Given the description of an element on the screen output the (x, y) to click on. 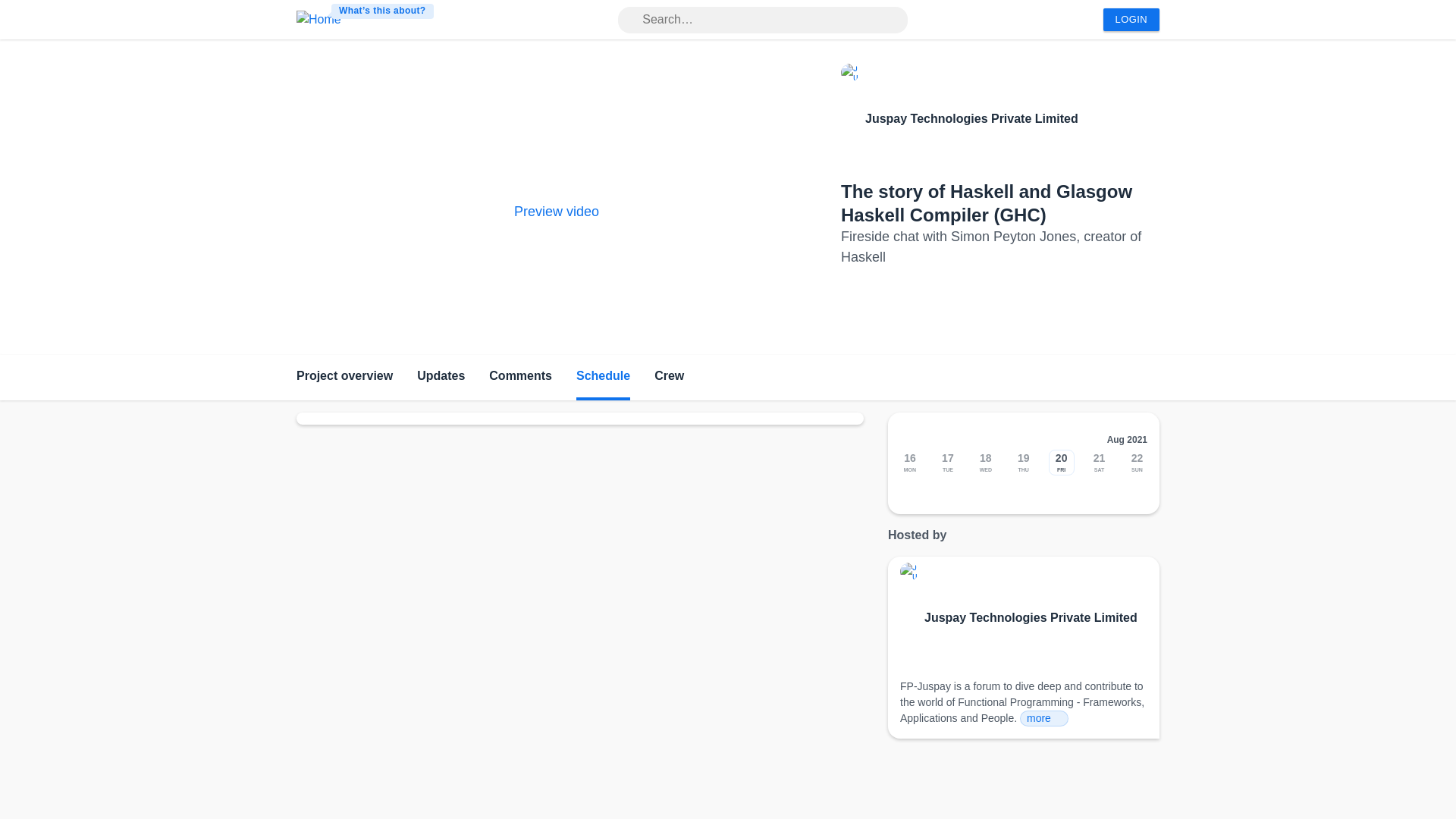
LOGIN (1130, 19)
Preview video (555, 211)
more (1044, 718)
Project overview (345, 377)
Schedule (603, 377)
Juspay Technologies Private Limited (1030, 618)
Juspay Technologies Private Limited (971, 117)
Updates (440, 377)
Comments (520, 377)
